Given the description of an element on the screen output the (x, y) to click on. 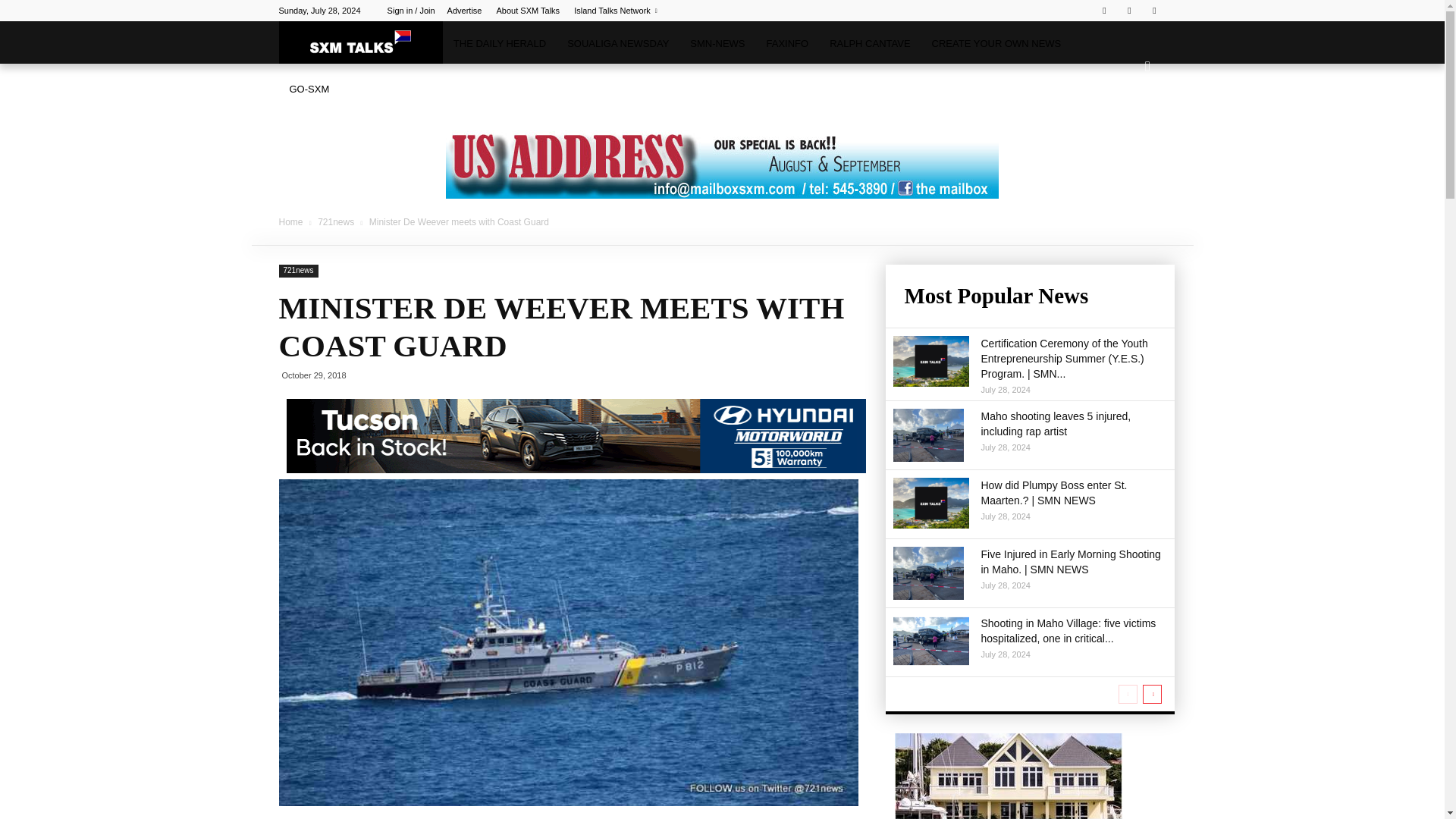
SOUALIGA NEWSDAY (617, 43)
RALPH CANTAVE (869, 43)
Advertise (463, 10)
Facebook (1104, 10)
View all posts in 721news (336, 222)
Youtube (1154, 10)
FAXINFO (787, 43)
SXM Talks (360, 42)
SMN-NEWS (717, 43)
About SXM Talks (528, 10)
Twitter (1129, 10)
THE DAILY HERALD (499, 43)
Island Talks Network (615, 10)
Maho shooting leaves 5 injured, including rap artist (928, 434)
